Given the description of an element on the screen output the (x, y) to click on. 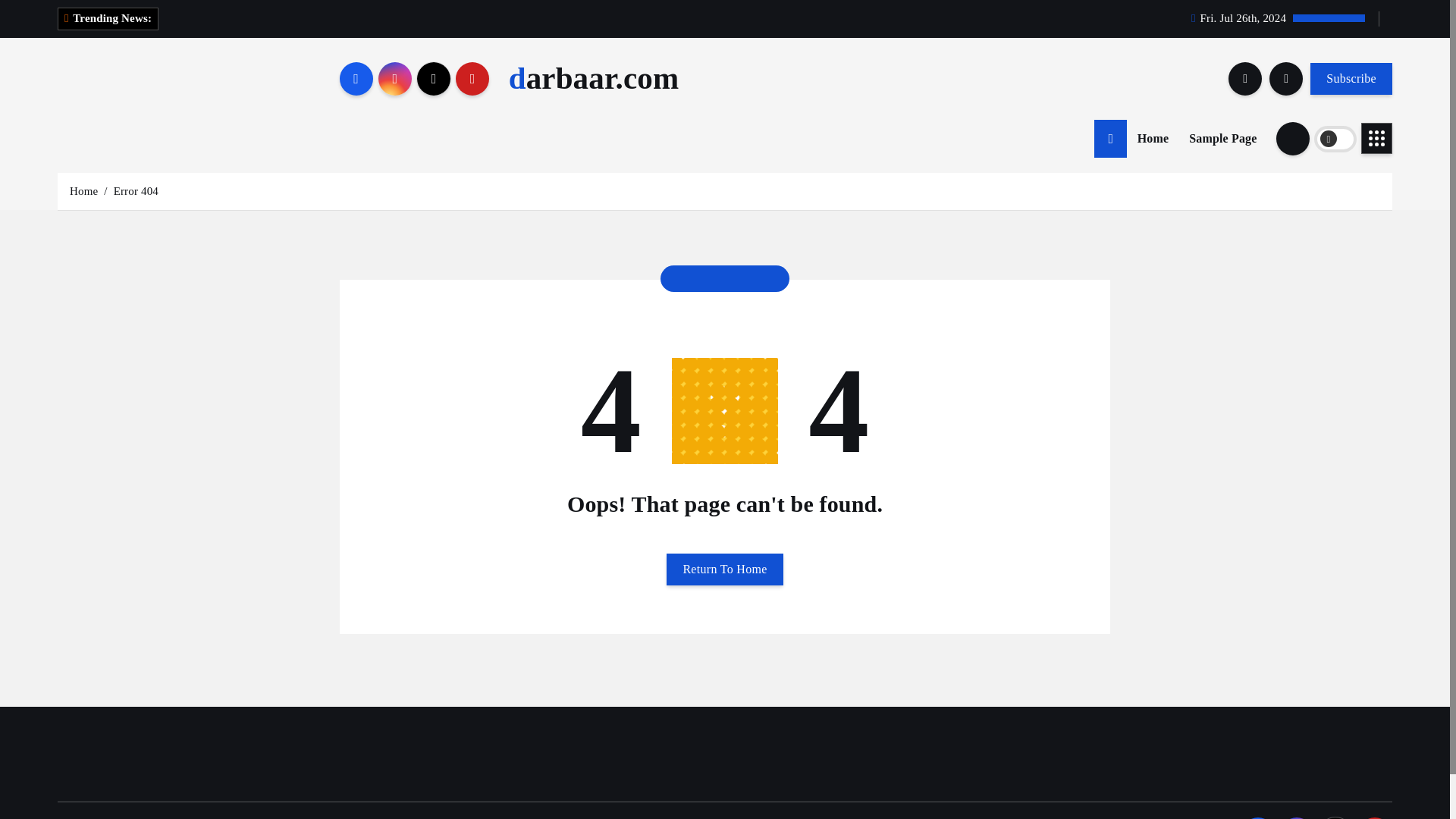
Return To Home (724, 569)
Home (1152, 138)
Sample Page (1222, 138)
darbaar.com (593, 78)
Error 404 (135, 191)
Home (1152, 138)
Subscribe (1350, 78)
Home (83, 191)
